Given the description of an element on the screen output the (x, y) to click on. 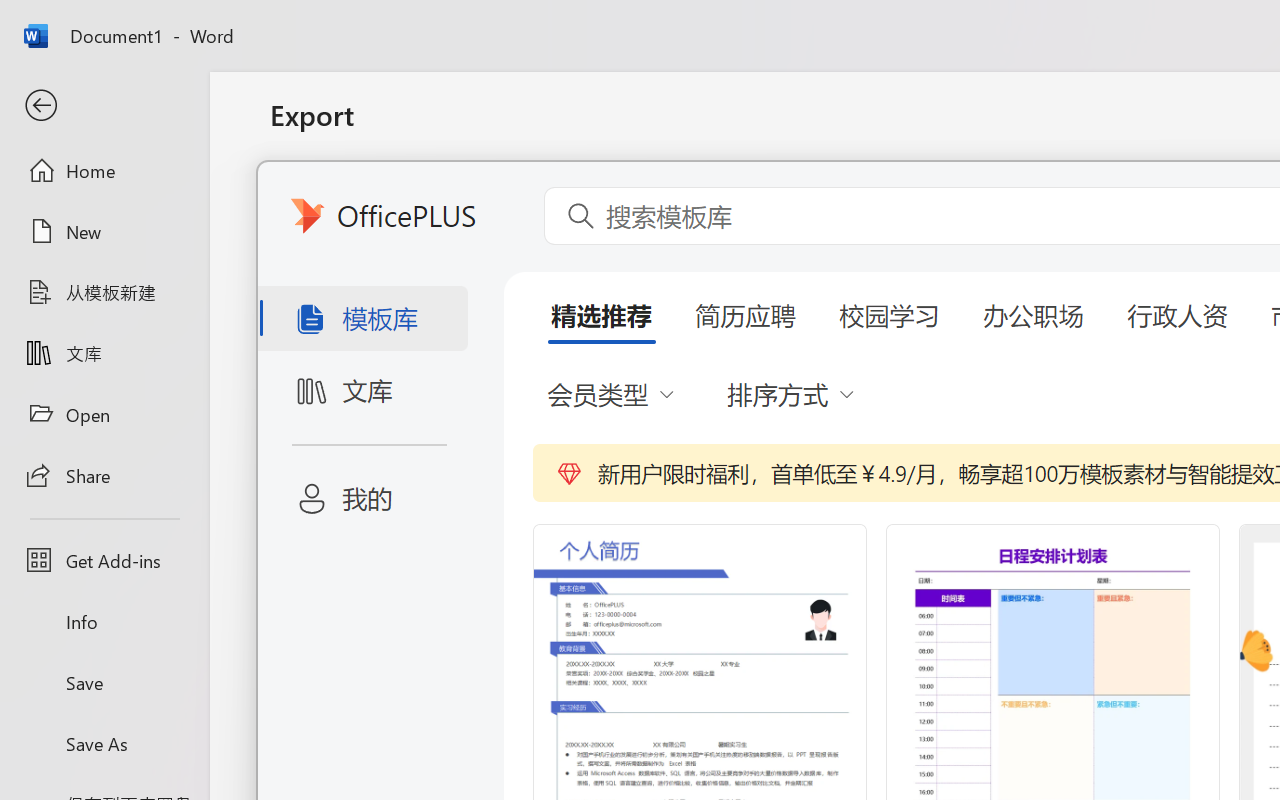
Save As (104, 743)
Back (104, 106)
Create PDF/XPS Document (507, 205)
Change File Type (507, 291)
